Given the description of an element on the screen output the (x, y) to click on. 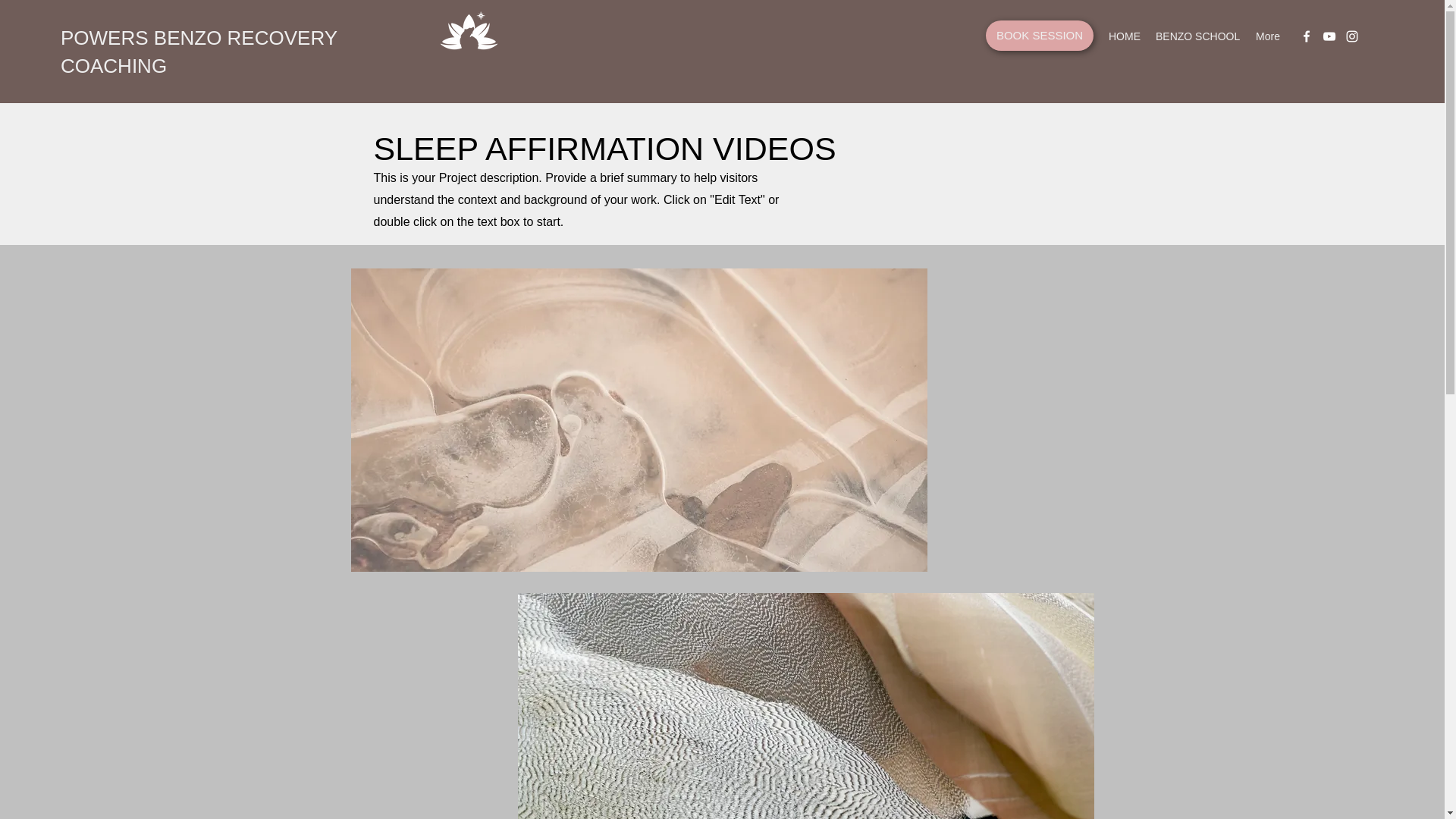
BOOK SESSION (1039, 35)
BENZO SCHOOL (1197, 36)
POWERS BENZO RECOVERY COACHING (199, 51)
HOME (1124, 36)
